Given the description of an element on the screen output the (x, y) to click on. 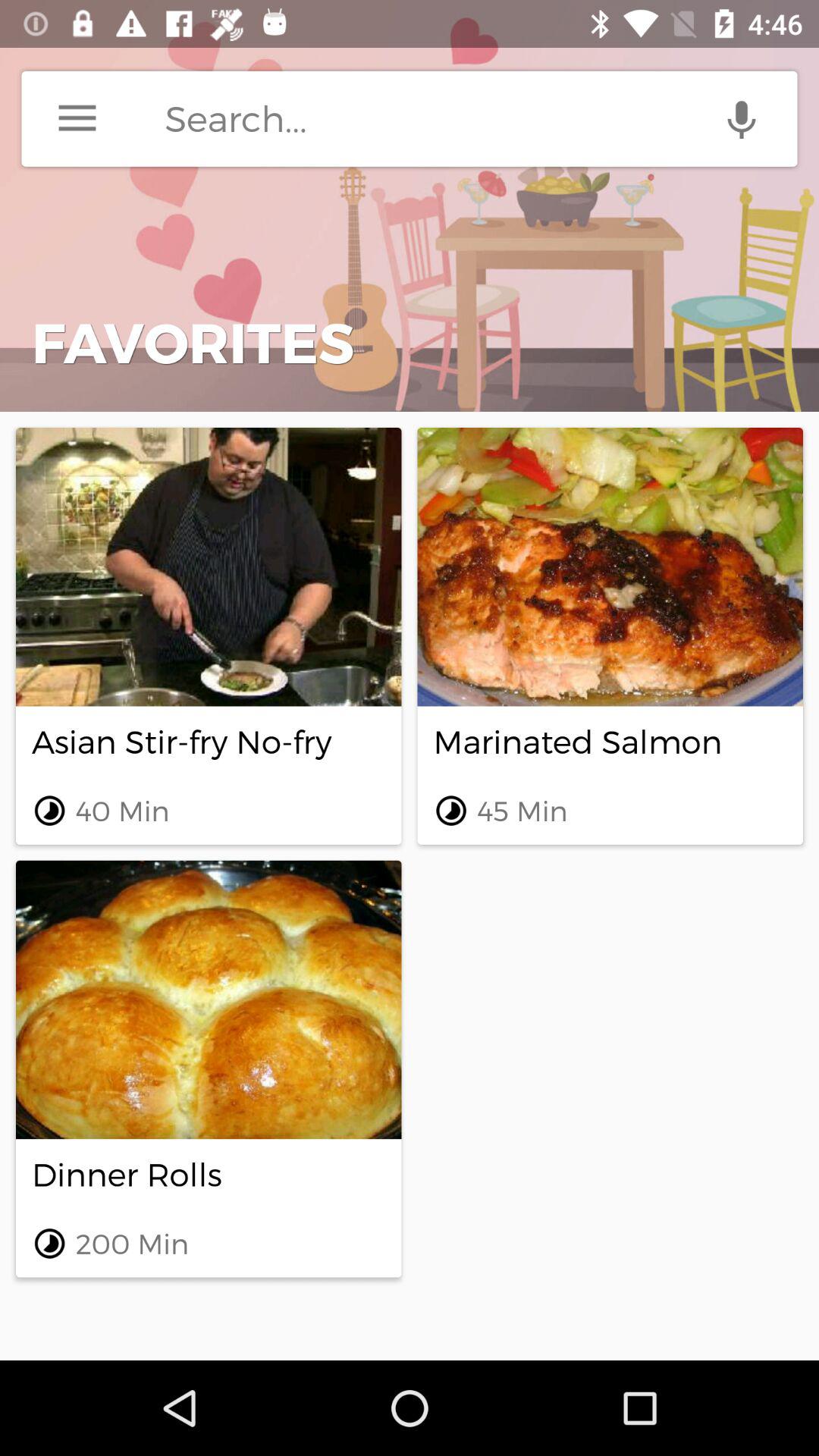
enter search terms (480, 118)
